Given the description of an element on the screen output the (x, y) to click on. 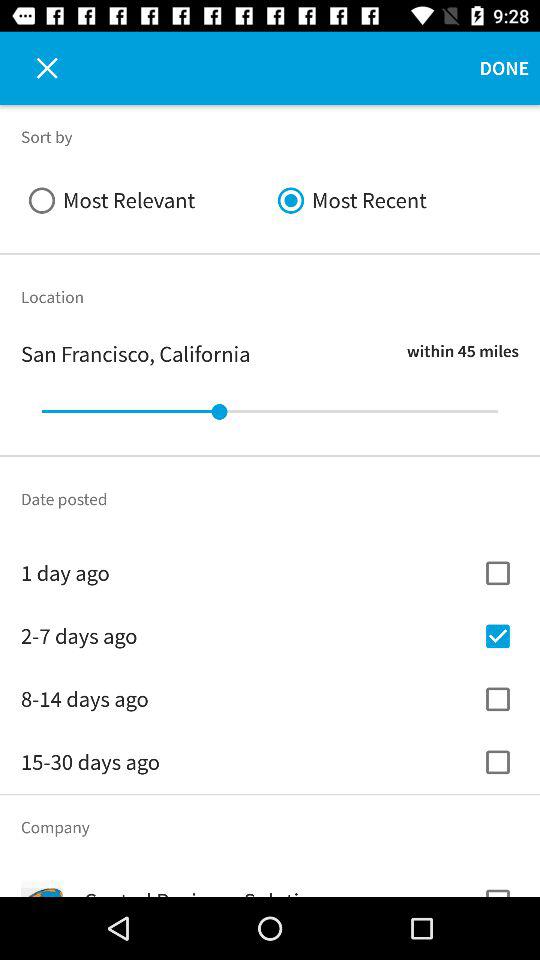
tap icon next to the most relevant icon (394, 200)
